Given the description of an element on the screen output the (x, y) to click on. 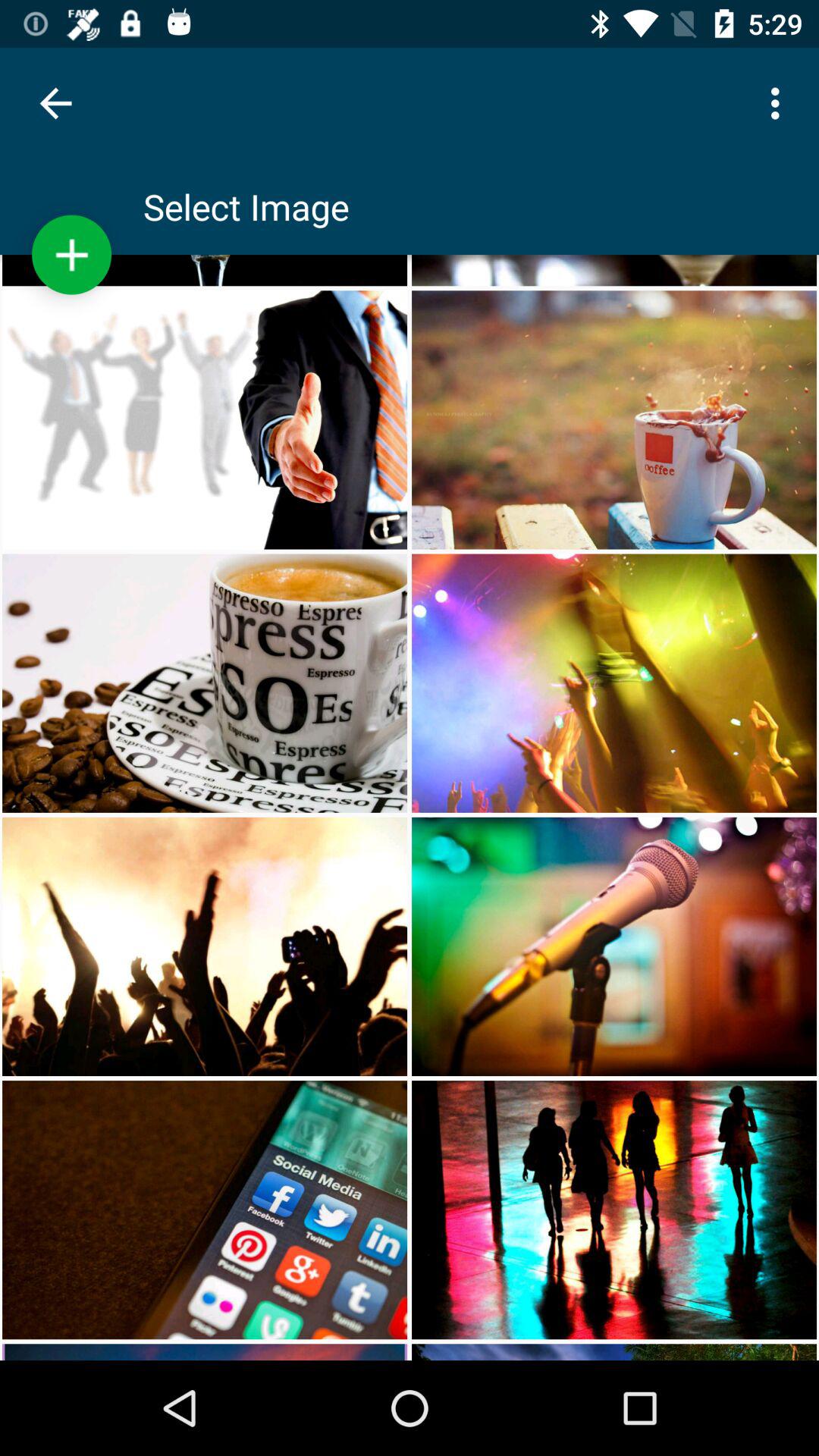
press icon next to select image item (71, 254)
